Given the description of an element on the screen output the (x, y) to click on. 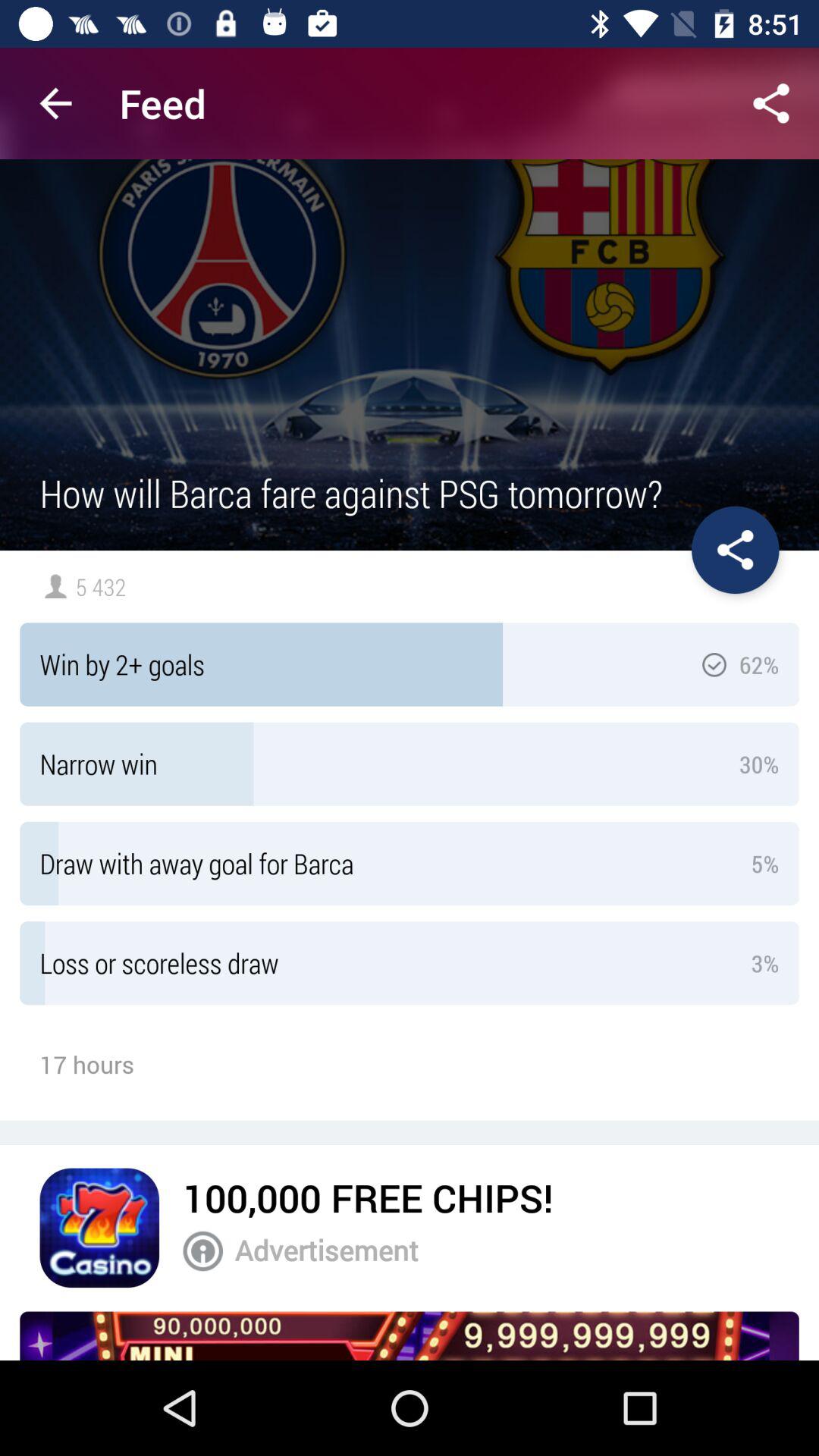
notification of advertisement (202, 1251)
